Given the description of an element on the screen output the (x, y) to click on. 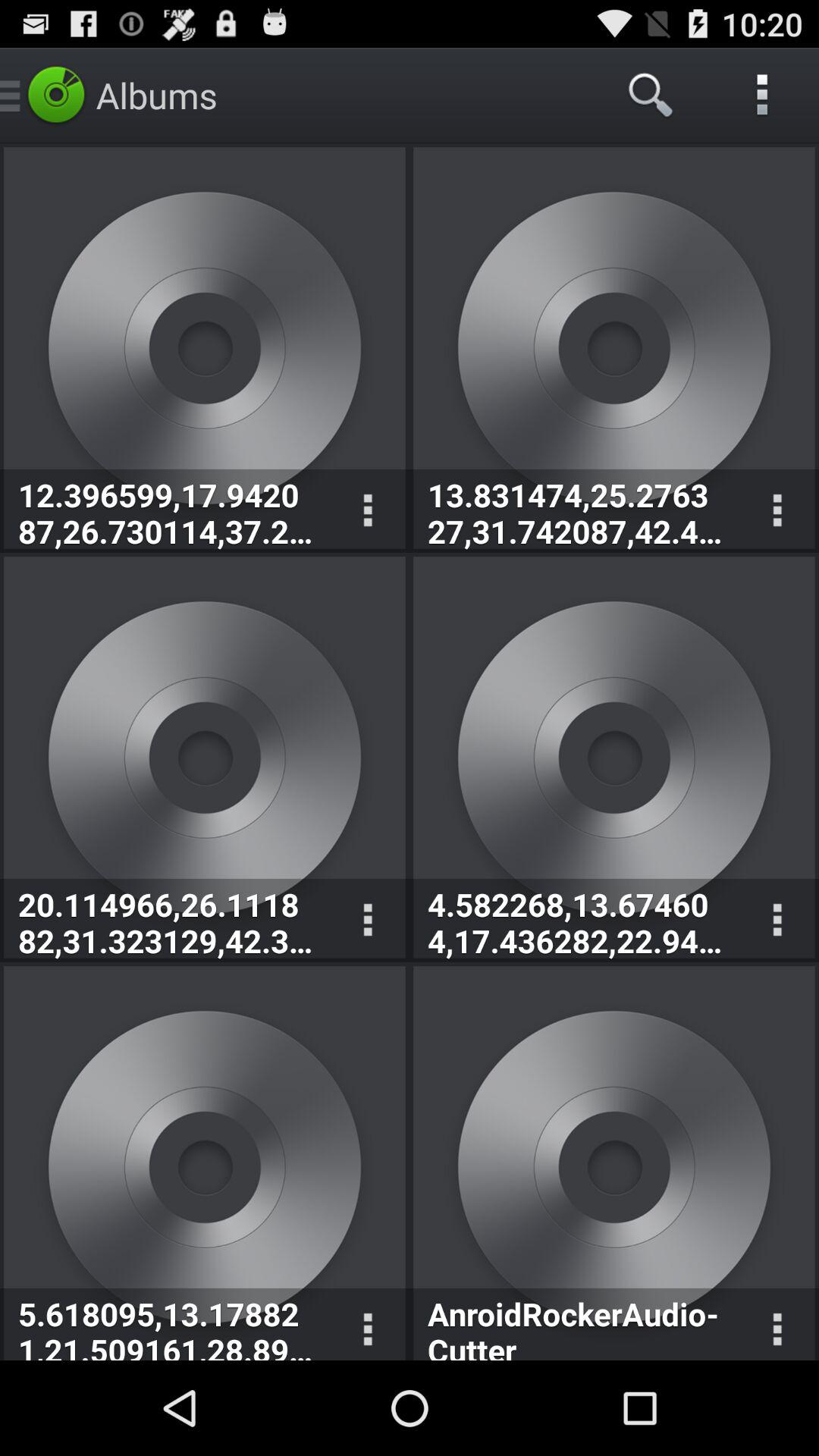
settings (367, 920)
